Given the description of an element on the screen output the (x, y) to click on. 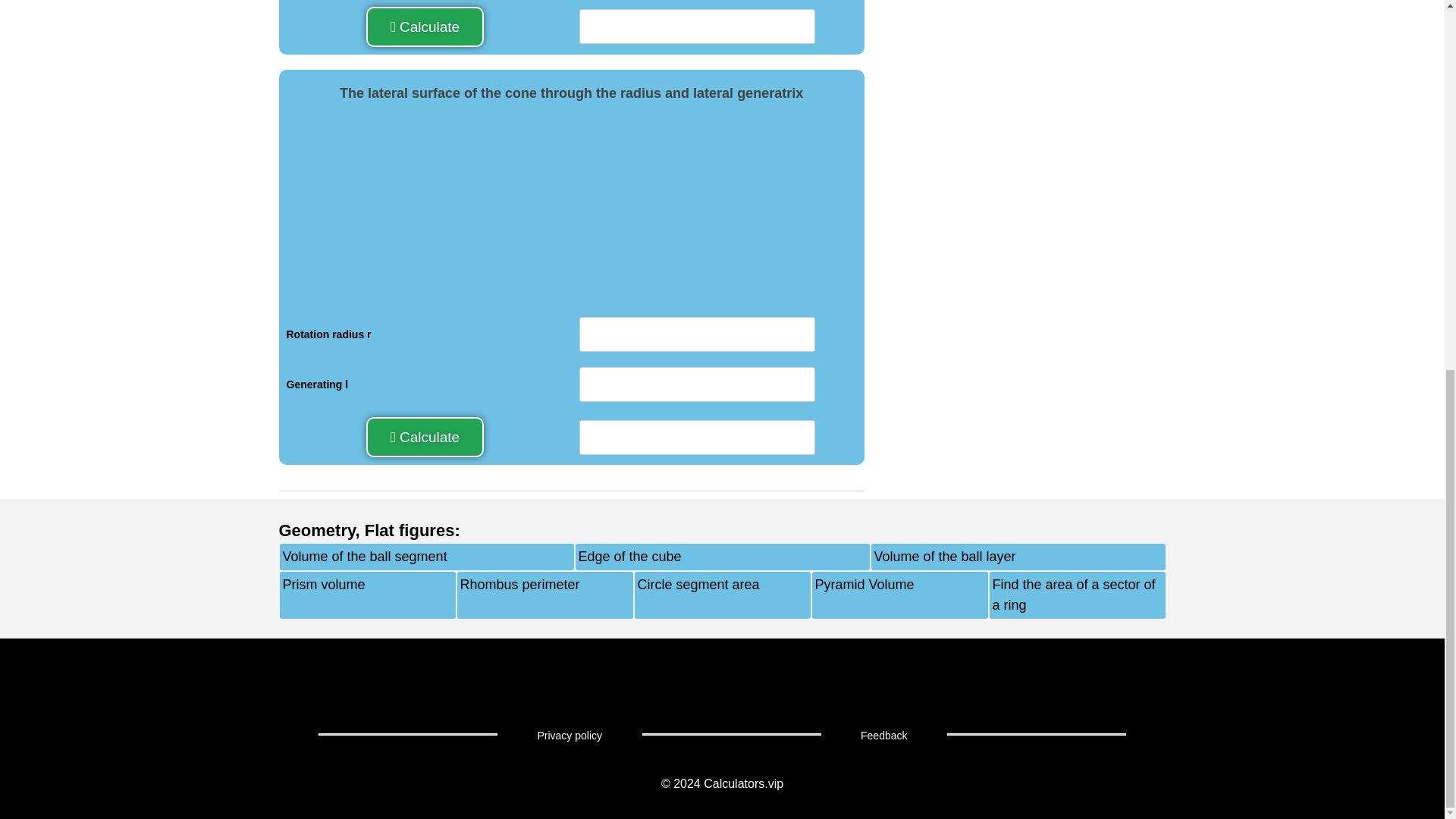
Pyramid Volume (863, 594)
Prism volume (323, 594)
Volume of the ball layer (943, 557)
Edge of the cube (629, 557)
Find the area of a sector of a ring (1076, 594)
Flat figures (409, 529)
Circle segment area (697, 594)
Volume of the ball layer (943, 557)
Calculate (424, 26)
Find the area of a sector of a ring (1076, 594)
